Given the description of an element on the screen output the (x, y) to click on. 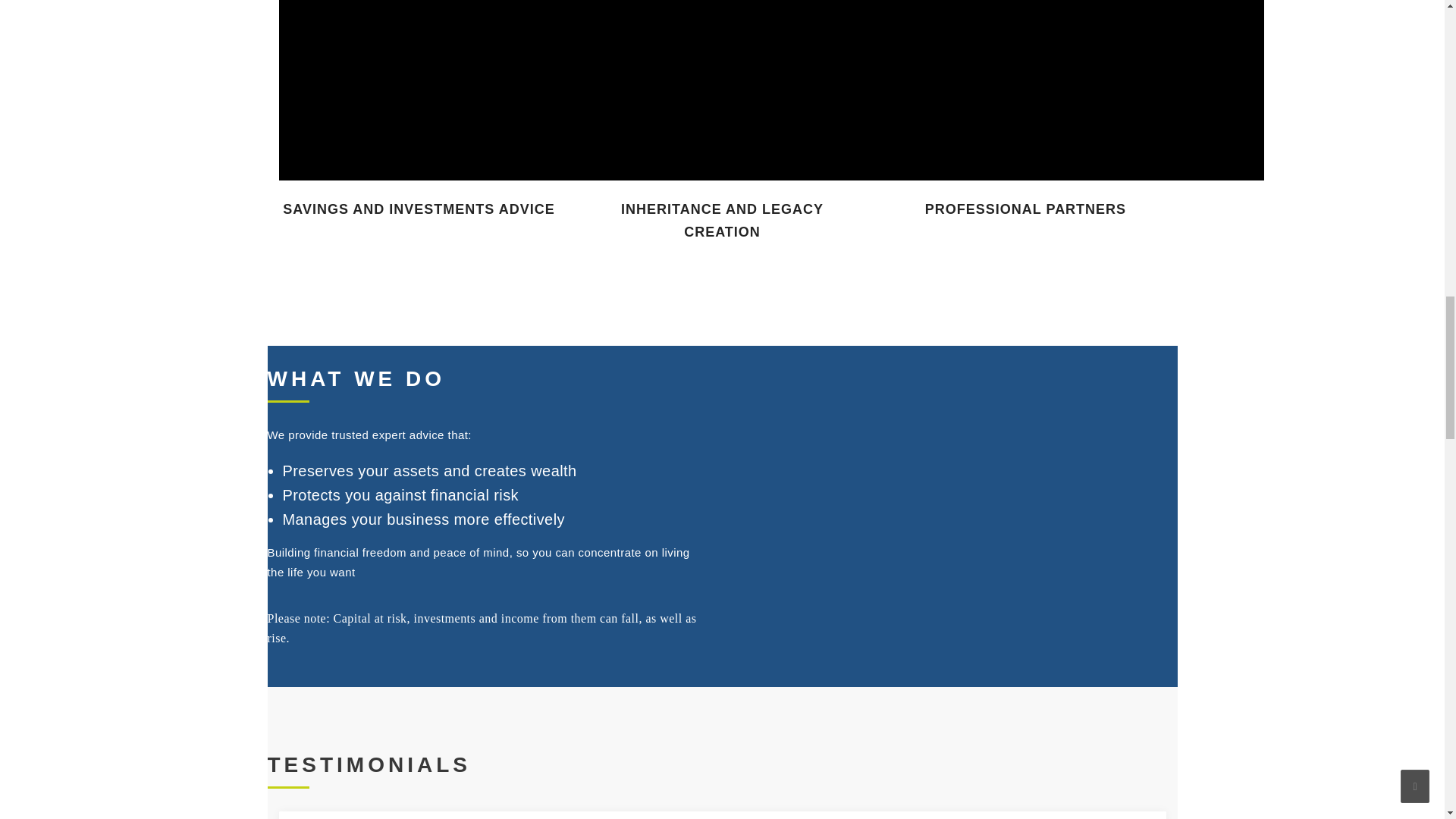
SAVINGS AND INVESTMENTS ADVICE (418, 209)
INHERITANCE AND LEGACY CREATION (722, 220)
PROFESSIONAL PARTNERS (1024, 209)
